Given the description of an element on the screen output the (x, y) to click on. 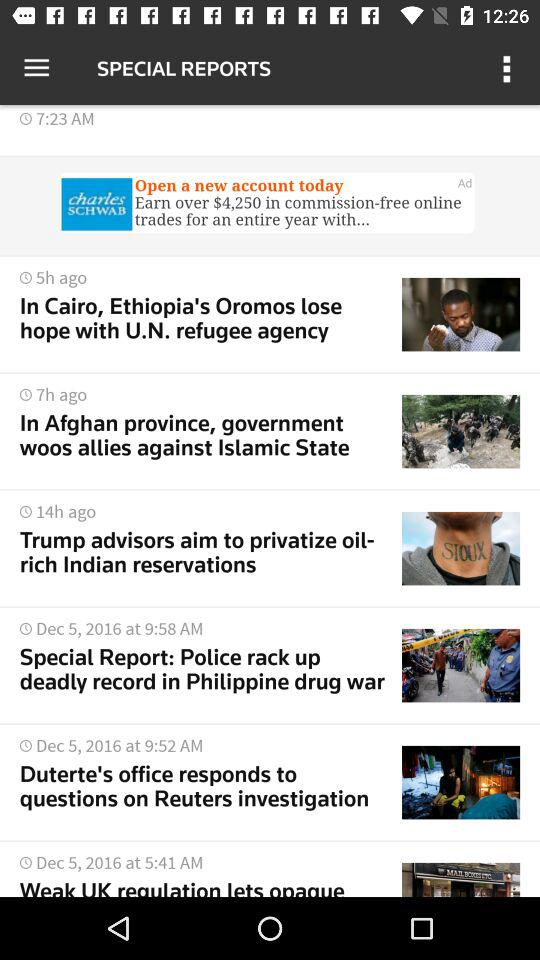
share link opttion (270, 205)
